Given the description of an element on the screen output the (x, y) to click on. 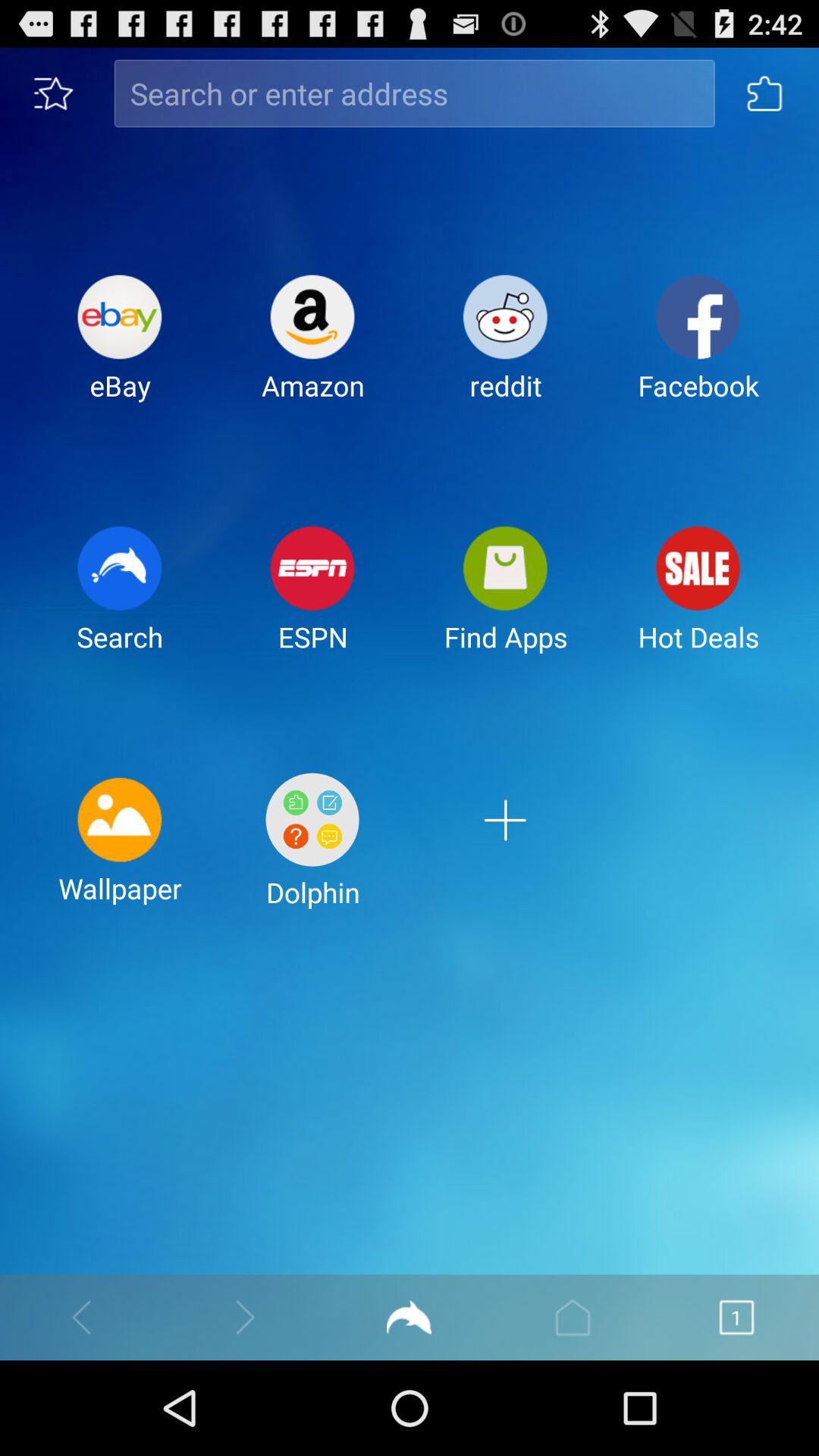
choose the icon above search item (119, 349)
